Given the description of an element on the screen output the (x, y) to click on. 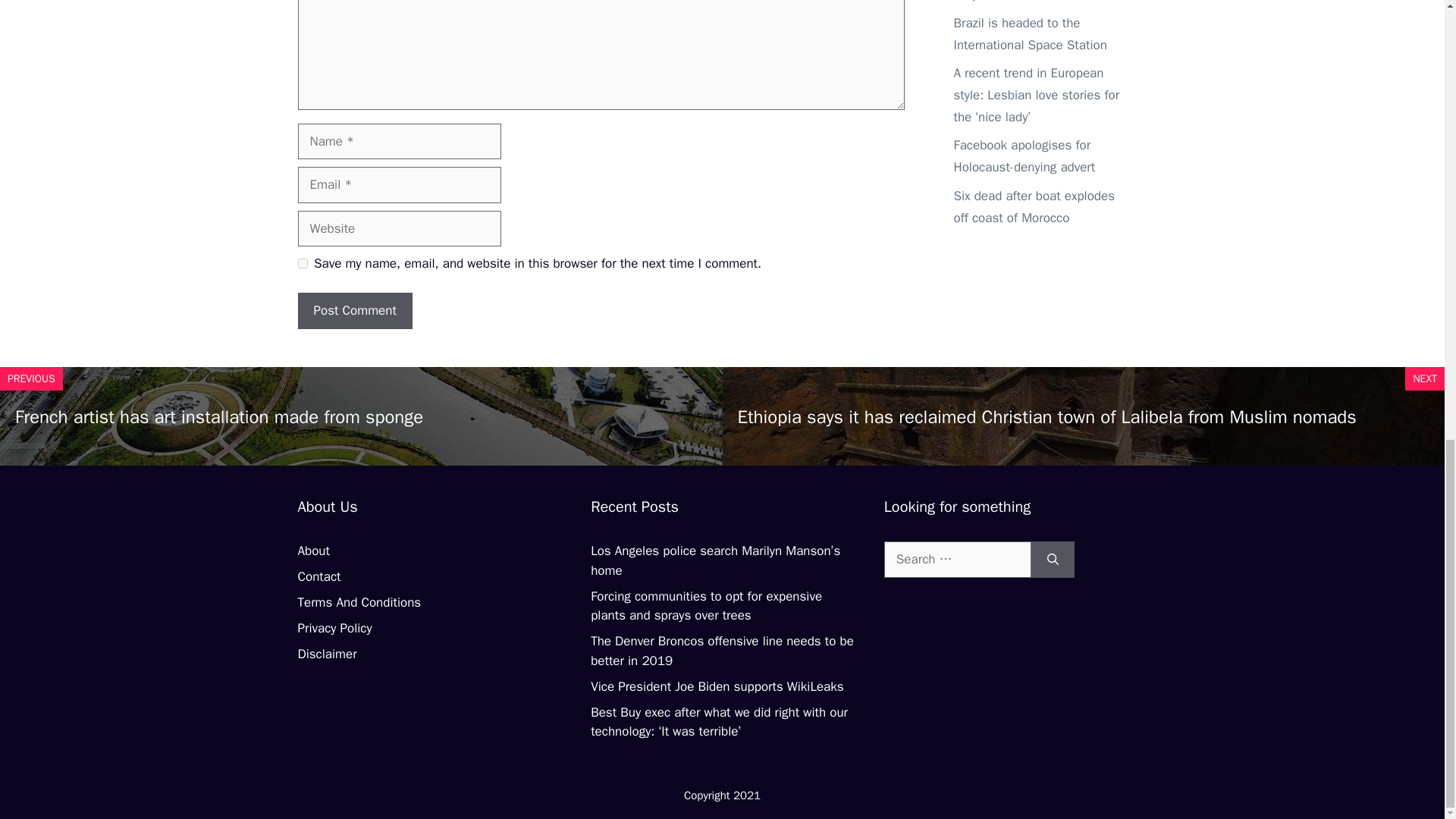
Post Comment (354, 310)
Brazil is headed to the International Space Station (1029, 34)
Facebook apologises for Holocaust-denying advert (1024, 156)
Post Comment (354, 310)
French artist has art installation made from sponge (218, 416)
Six dead after boat explodes off coast of Morocco (1034, 207)
yes (302, 263)
Contact (318, 576)
About (313, 550)
